Given the description of an element on the screen output the (x, y) to click on. 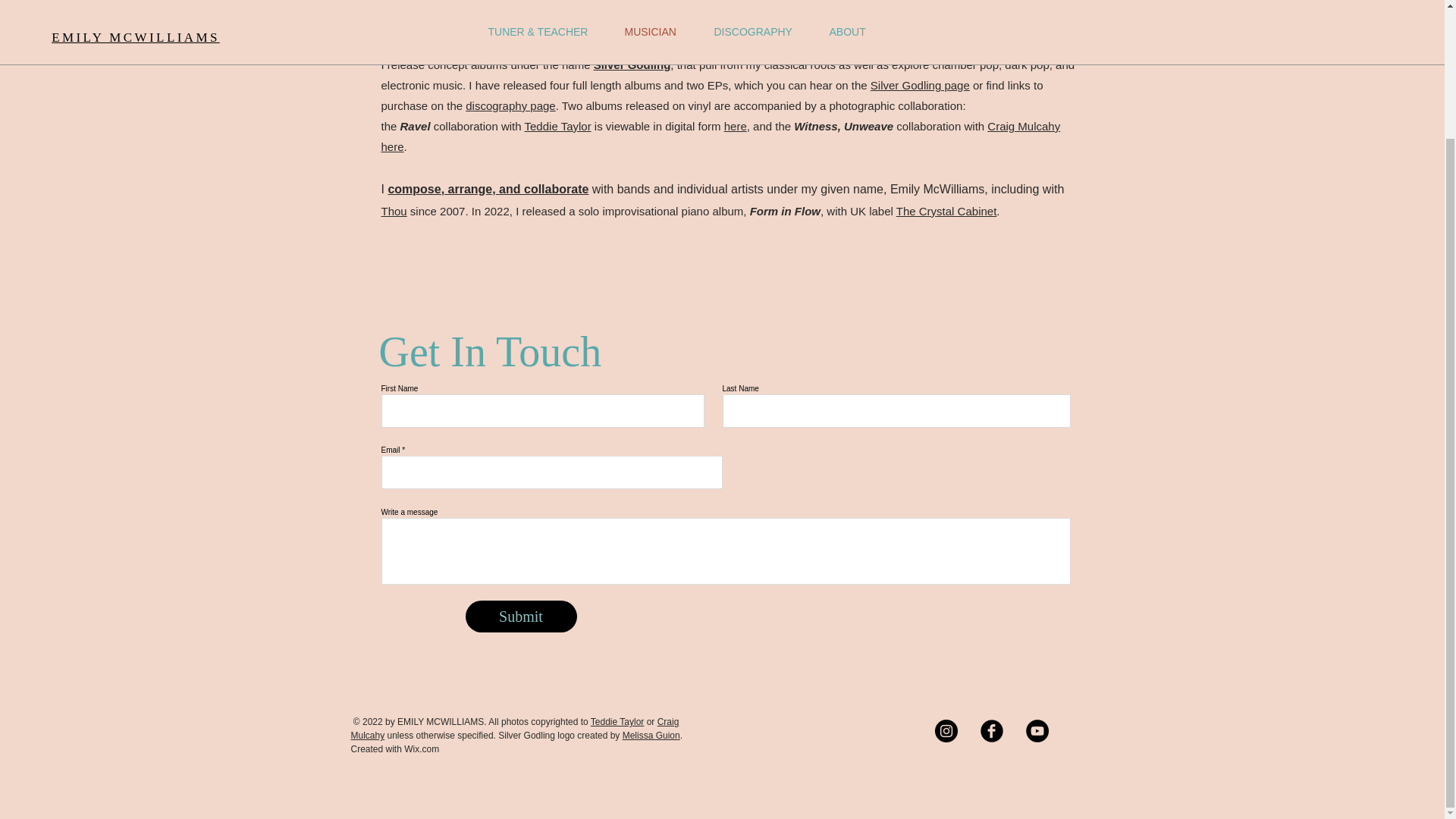
Melissa Guion (651, 735)
compose, arrange, and collaborate (487, 188)
The Crystal Cabinet (946, 210)
Teddie Taylor (557, 125)
Silver Godling (632, 64)
Silver Godling page (919, 84)
here (734, 125)
Thou (393, 210)
Submit (520, 616)
Wix.com (421, 748)
discography page (509, 105)
Craig Mulcahy (1023, 125)
here (391, 146)
Teddie Taylor (618, 721)
Craig Mulcahy (514, 728)
